Given the description of an element on the screen output the (x, y) to click on. 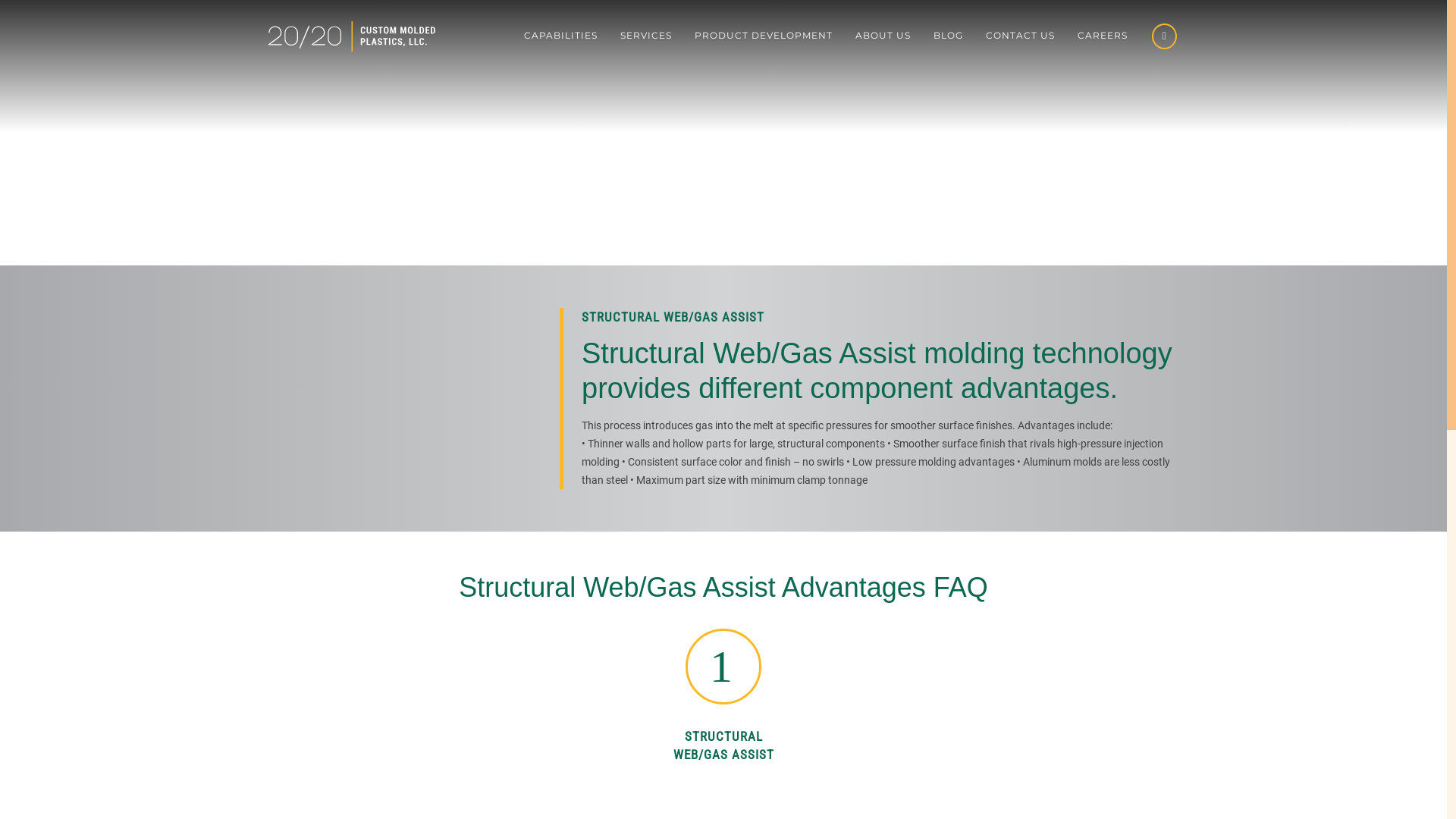
SERVICES Element type: text (645, 35)
Follow Us On Facebook Element type: hover (1164, 40)
BLOG Element type: text (948, 35)
CONTACT US Element type: text (1020, 35)
CAPABILITIES Element type: text (560, 35)
CAREERS Element type: text (1102, 35)
PRODUCT DEVELOPMENT Element type: text (763, 35)
ABOUT US Element type: text (883, 35)
1
STRUCTURAL WEB/GAS ASSIST Element type: text (723, 701)
